Given the description of an element on the screen output the (x, y) to click on. 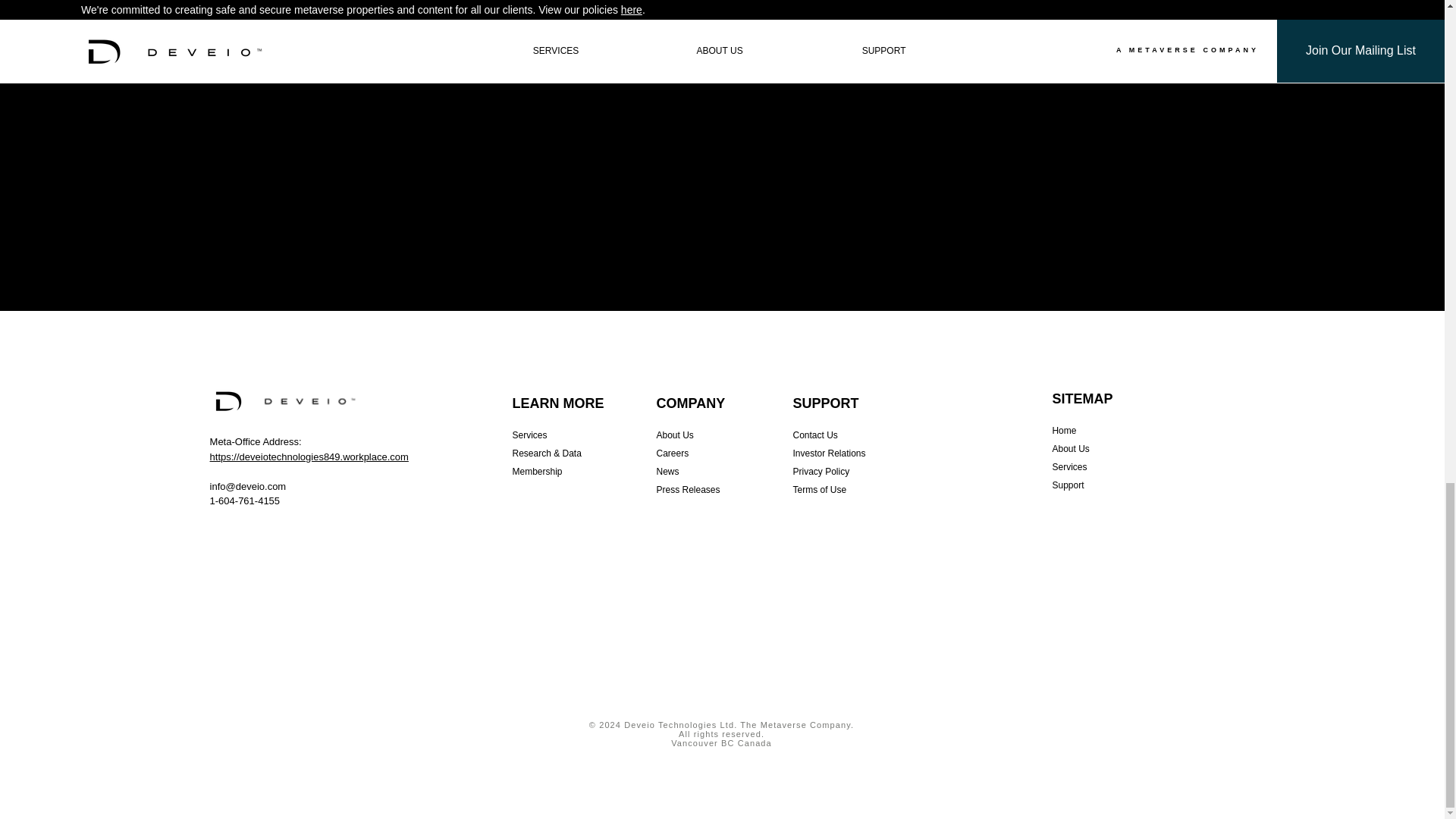
Membership (537, 471)
Careers (672, 452)
About Us (1070, 448)
Home (1063, 430)
Privacy Policy (821, 471)
About Us (675, 434)
Services (529, 434)
News (667, 471)
Support (1067, 484)
Investor Relations (829, 452)
Contact Us (815, 434)
Services (1068, 466)
Terms of Use (820, 489)
Press Releases (688, 489)
